Given the description of an element on the screen output the (x, y) to click on. 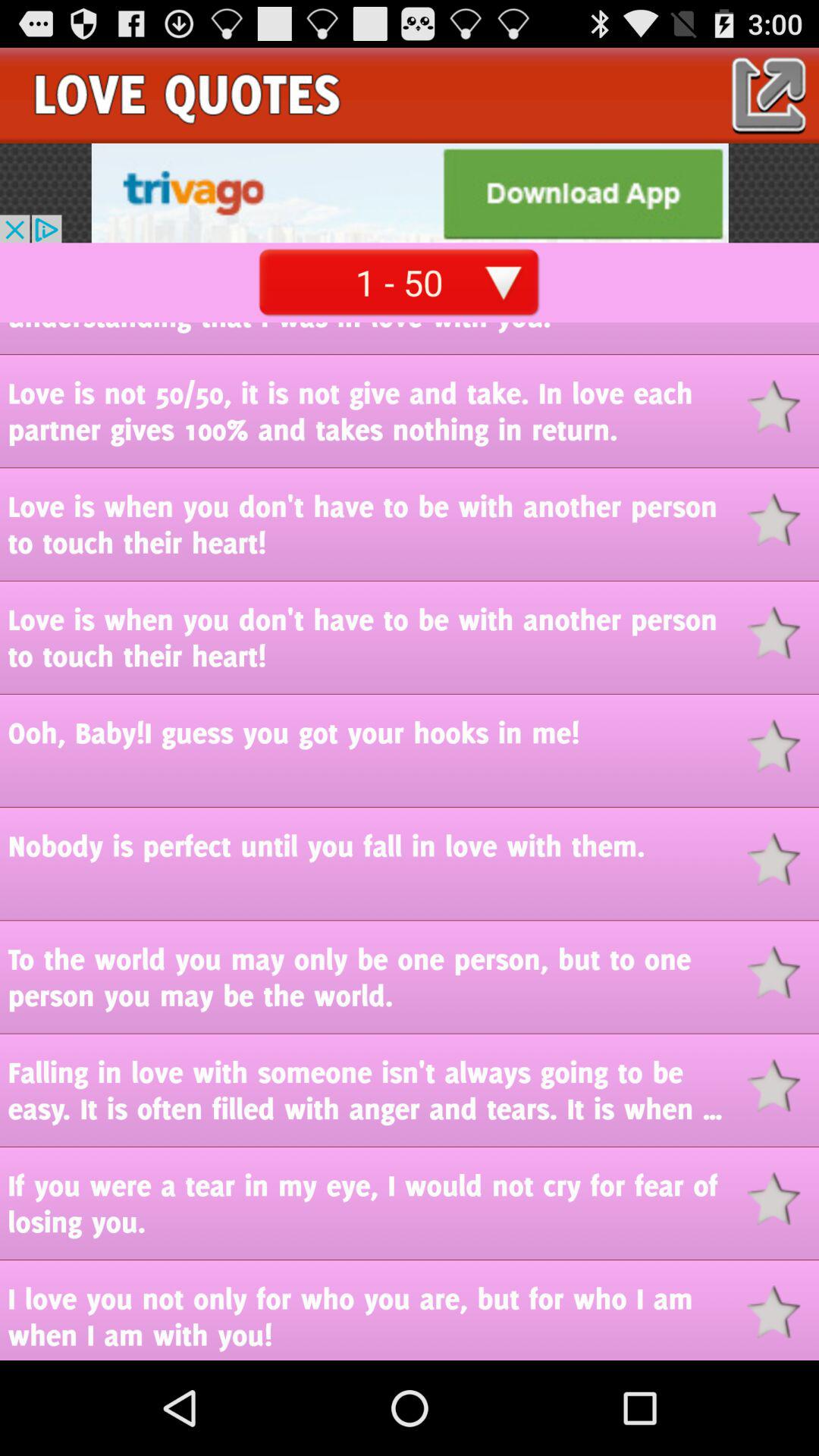
favorite item (783, 1085)
